Given the description of an element on the screen output the (x, y) to click on. 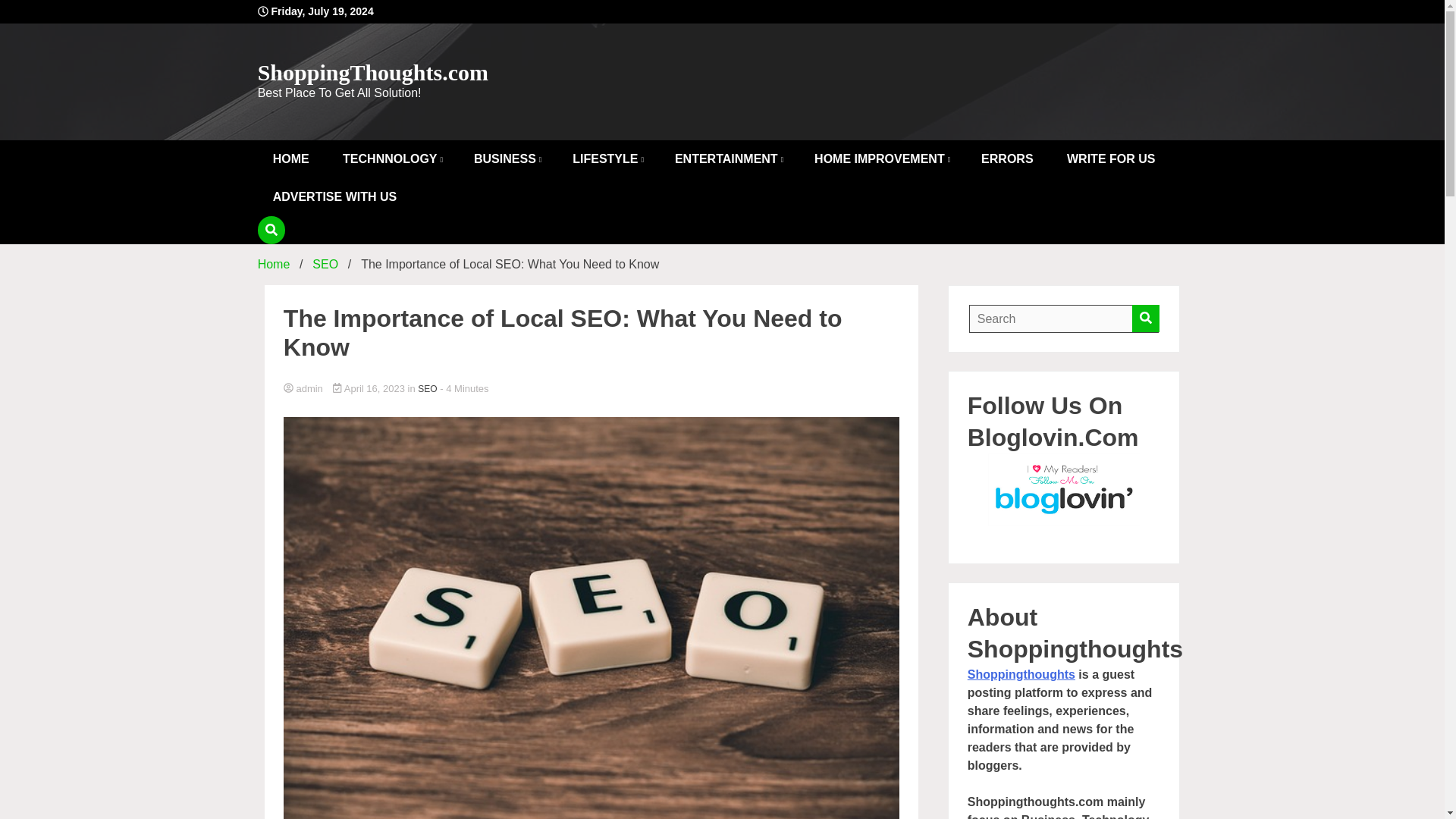
ADVERTISE WITH US (334, 197)
ShoppingThoughts.com (372, 72)
BUSINESS (506, 159)
April 16, 2023 (370, 388)
ERRORS (1007, 159)
Estimated Reading Time of Article (463, 388)
SEO (426, 388)
Home (273, 264)
TECHNNOLOGY (390, 159)
HOME (290, 159)
SEO (325, 264)
HOME IMPROVEMENT (880, 159)
admin (591, 389)
ENTERTAINMENT (727, 159)
LIFESTYLE (606, 159)
